Given the description of an element on the screen output the (x, y) to click on. 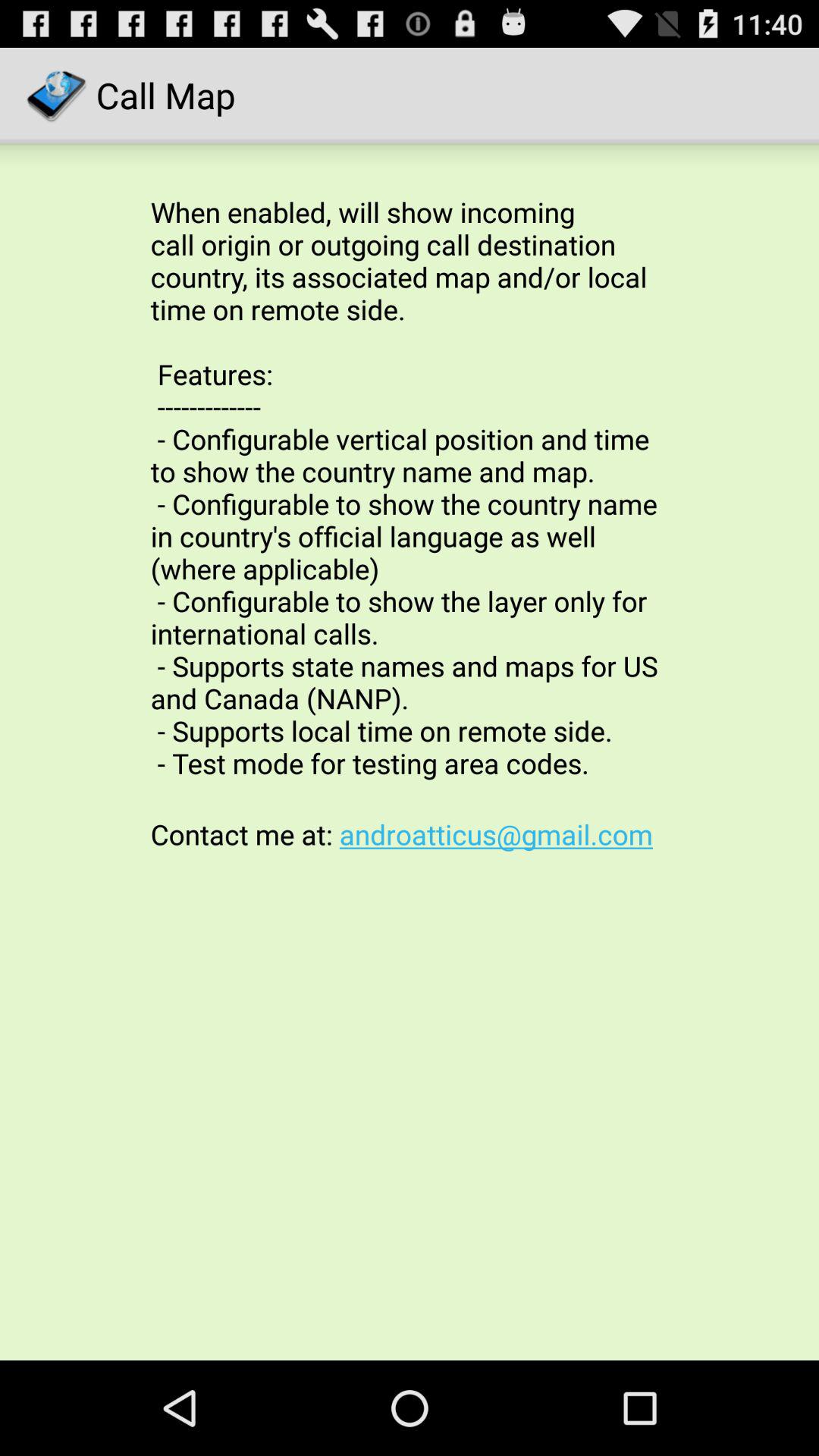
turn on contact me at (409, 834)
